Given the description of an element on the screen output the (x, y) to click on. 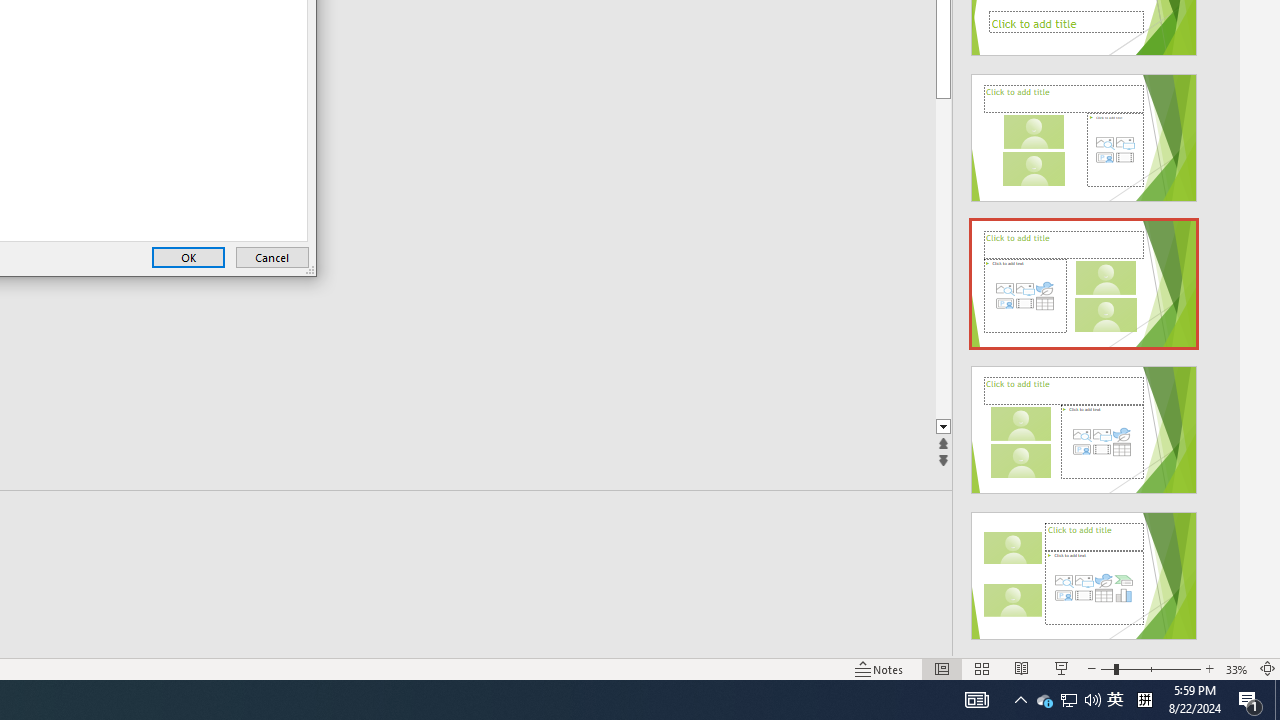
Action Center, 1 new notification (1250, 699)
